Given the description of an element on the screen output the (x, y) to click on. 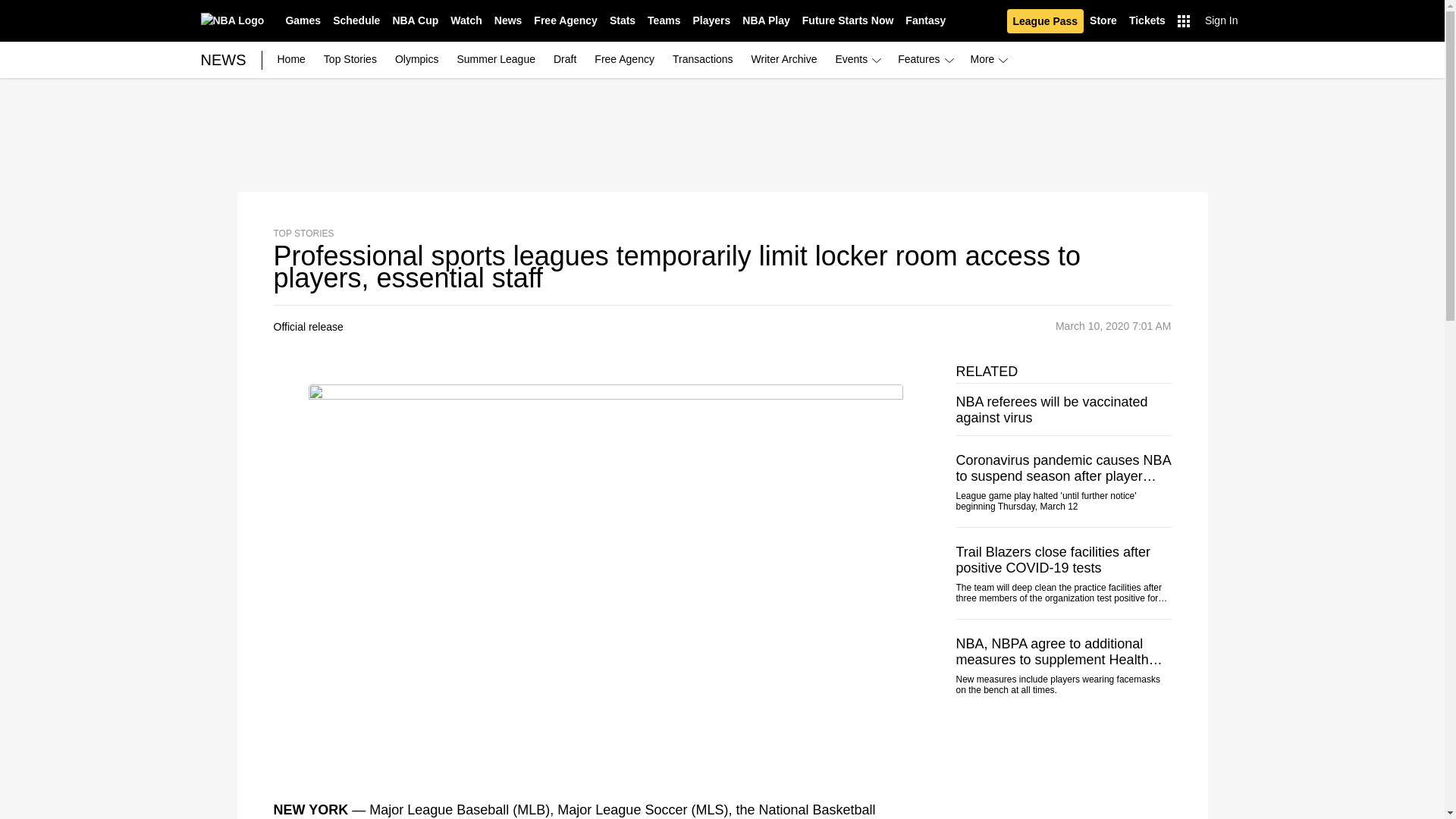
NBA (231, 20)
Free Agency (565, 20)
Stats (623, 20)
NBA Cup (414, 20)
Watch (465, 20)
Schedule (355, 20)
Games (302, 20)
NBA Logo Homepage Button (231, 20)
News (507, 20)
